Given the description of an element on the screen output the (x, y) to click on. 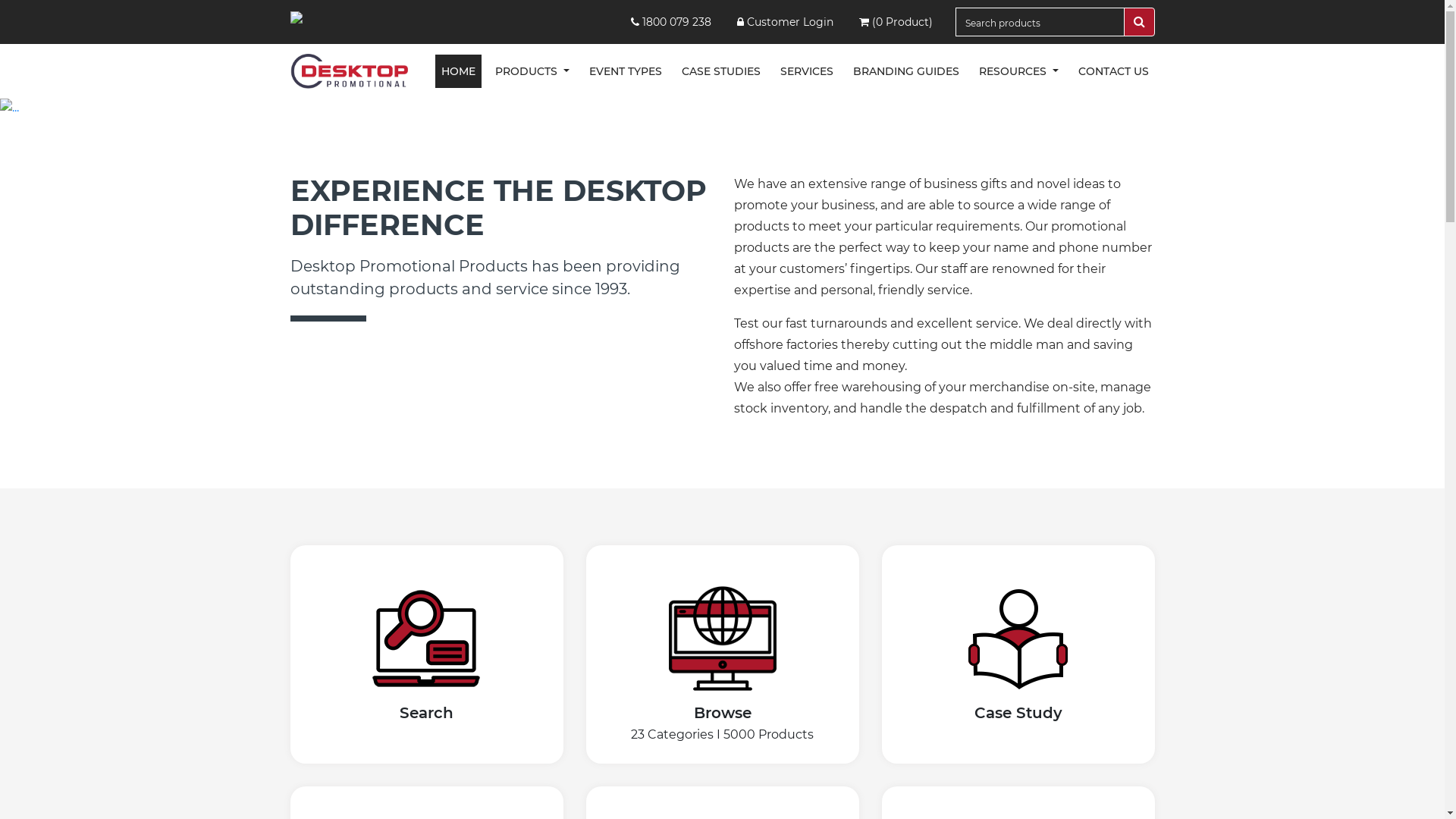
Next Element type: text (1335, 107)
Customer Login Element type: text (785, 21)
EVENT TYPES Element type: text (625, 70)
RESOURCES Element type: text (1018, 70)
CONTACT US Element type: text (1113, 70)
SERVICES Element type: text (806, 70)
 1800 079 238 Element type: text (670, 21)
CASE STUDIES Element type: text (720, 70)
(0 Product) Element type: text (895, 21)
Search Element type: text (426, 675)
HOME Element type: text (458, 70)
BRANDING GUIDES Element type: text (906, 70)
Previous Element type: text (108, 107)
Browse
23 Categories I 5000 Products Element type: text (722, 686)
Case Study Element type: text (1018, 675)
PRODUCTS Element type: text (532, 70)
